Given the description of an element on the screen output the (x, y) to click on. 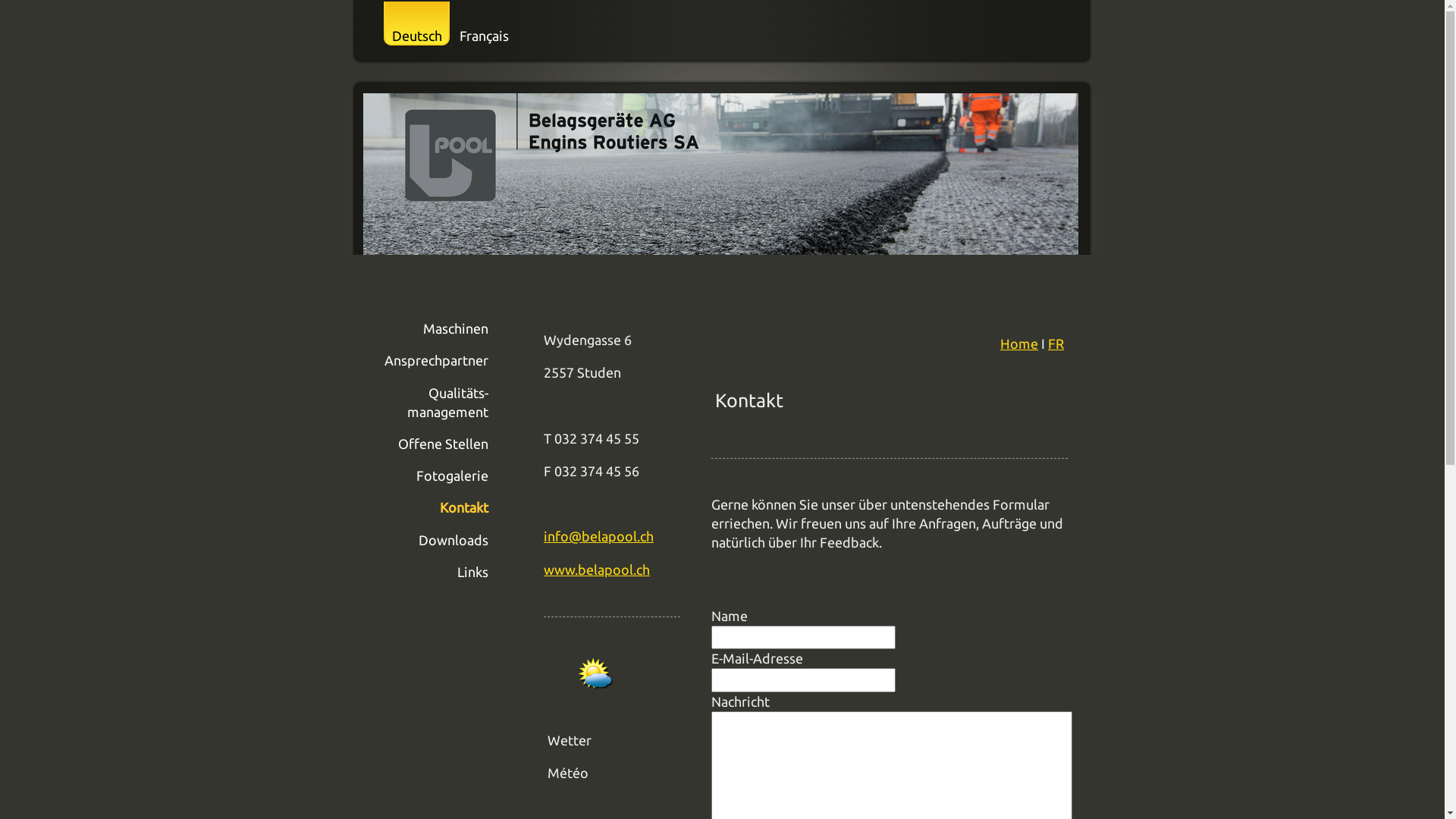
Offene Stellen Element type: text (446, 444)
www.belapool.ch Element type: text (596, 568)
info@belapool.ch Element type: text (598, 535)
Links Element type: text (446, 572)
Ansprechpartner Element type: text (446, 360)
Deutsch Element type: text (415, 27)
Downloads Element type: text (446, 540)
Kontakt Element type: text (446, 508)
Fotogalerie Element type: text (446, 476)
Maschinen Element type: text (446, 329)
FR Element type: text (1055, 343)
Home Element type: text (1019, 343)
